Given the description of an element on the screen output the (x, y) to click on. 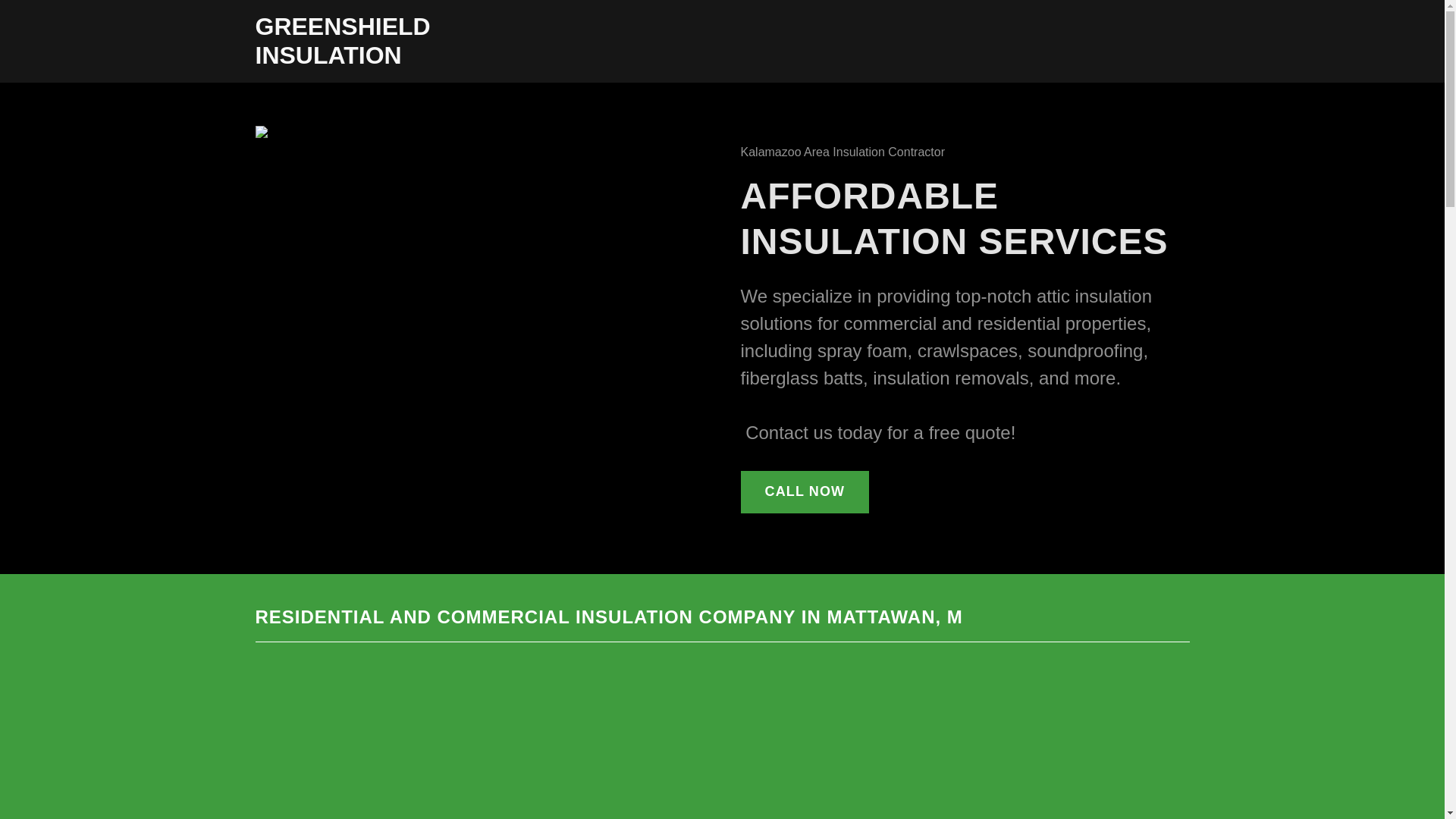
CALL NOW (804, 491)
GREENSHIELD INSULATION (417, 58)
GREENSHIELD INSULATION (417, 58)
